Given the description of an element on the screen output the (x, y) to click on. 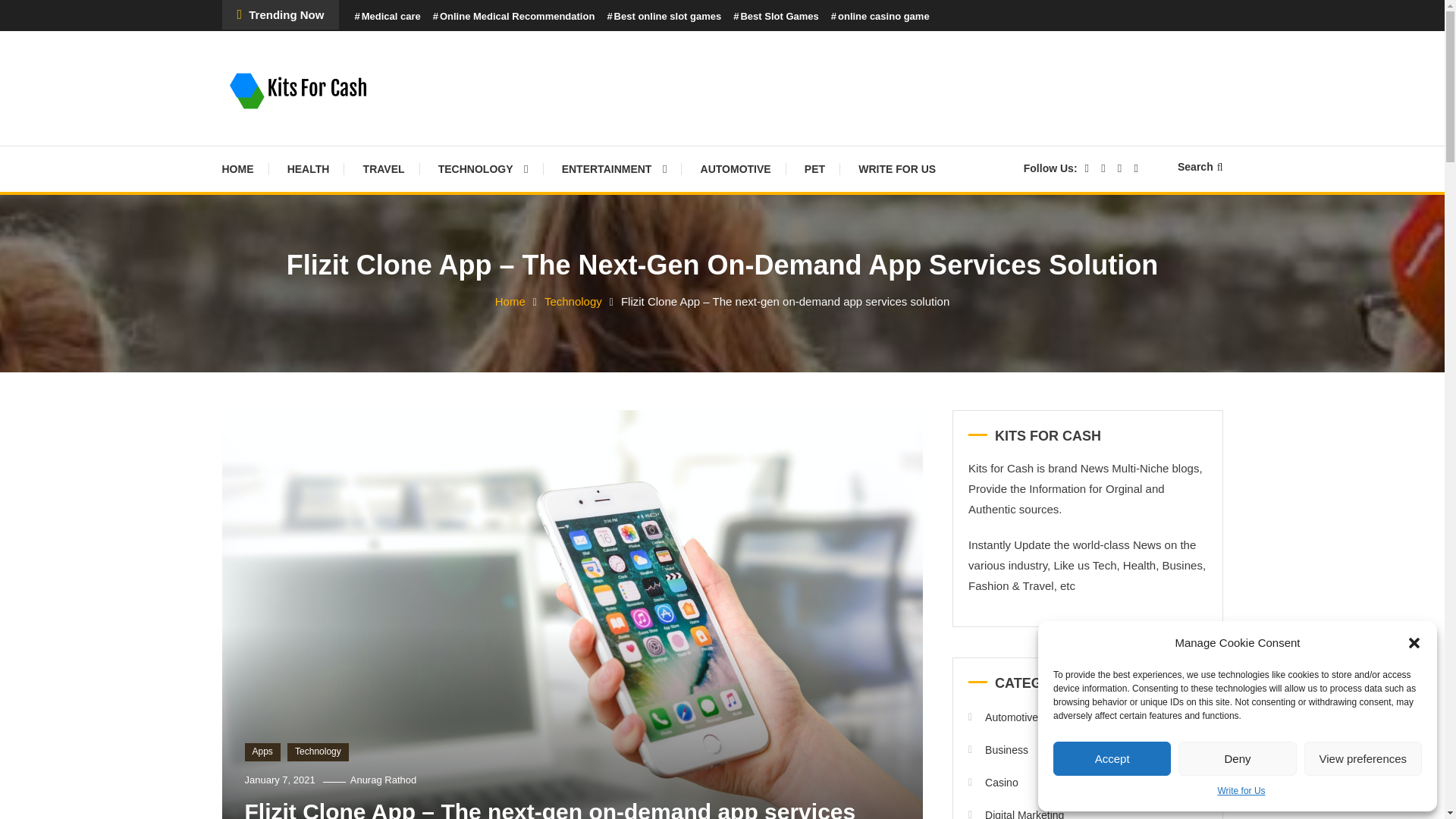
Search (768, 432)
Search (1200, 166)
online casino game (880, 16)
WRITE FOR US (896, 168)
Online Medical Recommendation (513, 16)
Deny (1236, 758)
Best online slot games (663, 16)
TECHNOLOGY (483, 168)
HOME (244, 168)
PET (814, 168)
Best Slot Games (775, 16)
TRAVEL (383, 168)
Accept (1111, 758)
HEALTH (308, 168)
ENTERTAINMENT (614, 168)
